Given the description of an element on the screen output the (x, y) to click on. 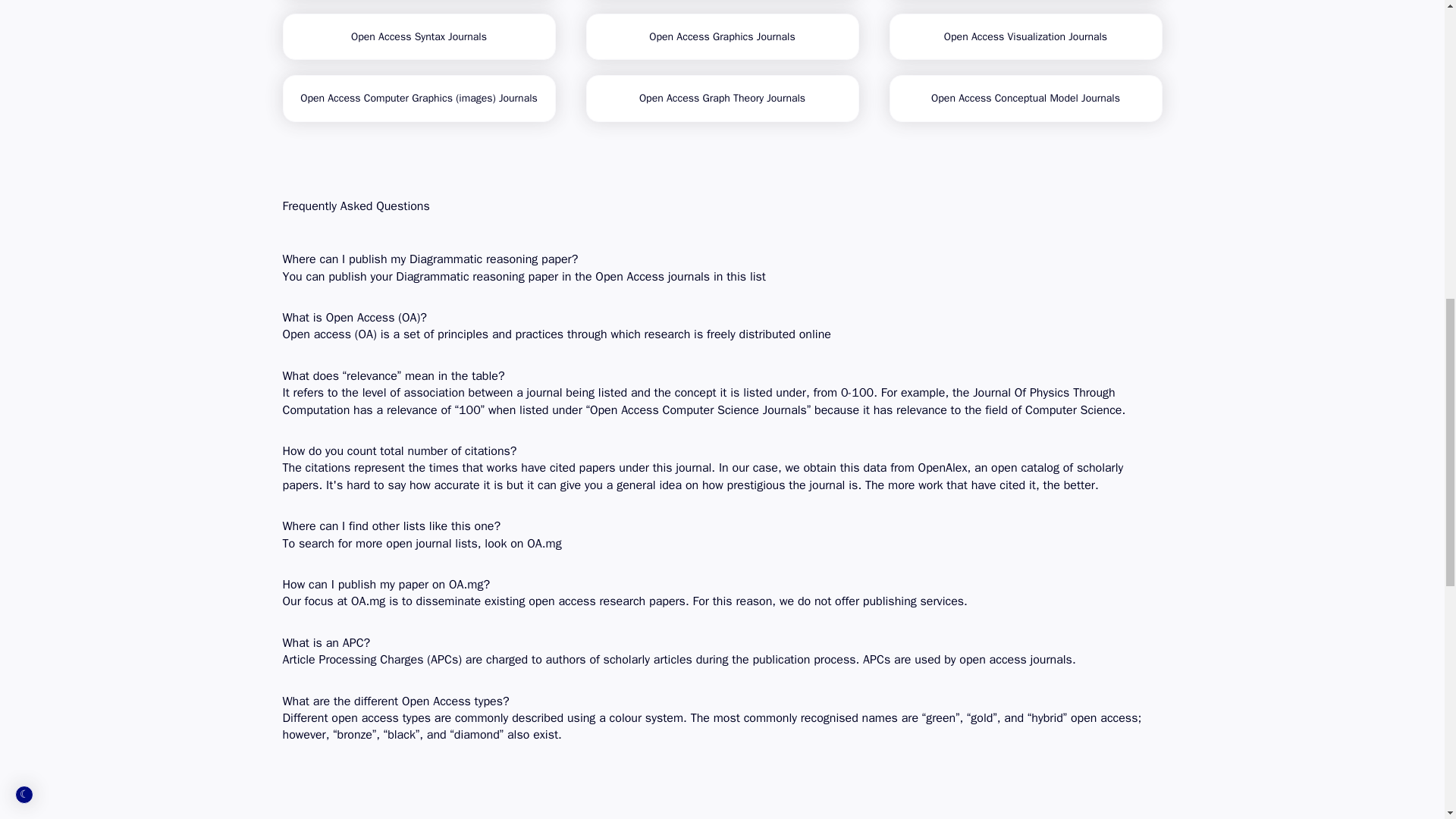
Open Access Conceptual Model Journals (1024, 98)
Open Access Visualization Journals (1024, 36)
Open Access Graph Theory Journals (722, 98)
Open Access Graphics Journals (722, 36)
Open Access Syntax Journals (418, 36)
